Given the description of an element on the screen output the (x, y) to click on. 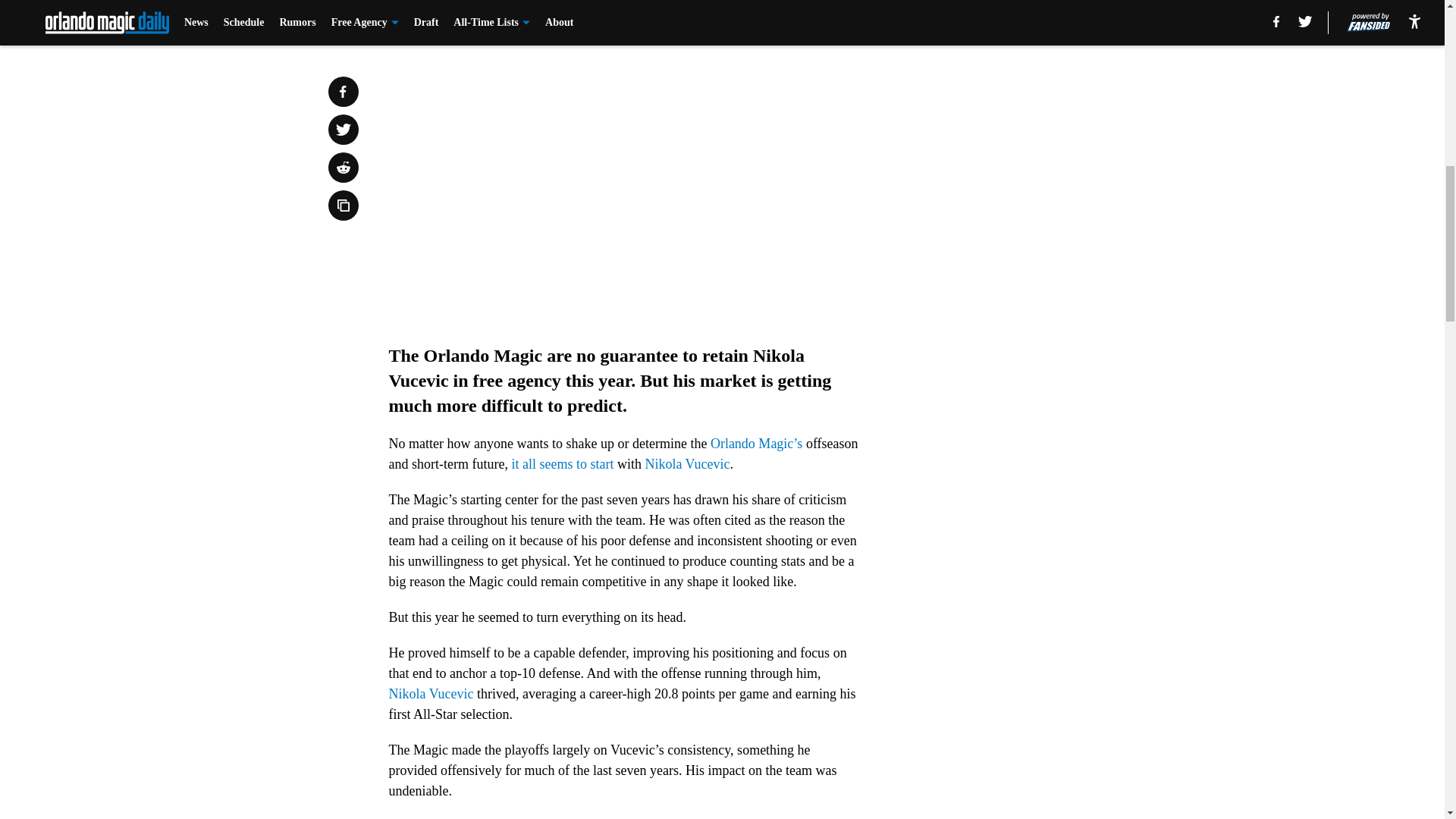
Nikola Vucevic (430, 693)
Nikola Vucevic (687, 463)
it all seems to start (561, 463)
